Given the description of an element on the screen output the (x, y) to click on. 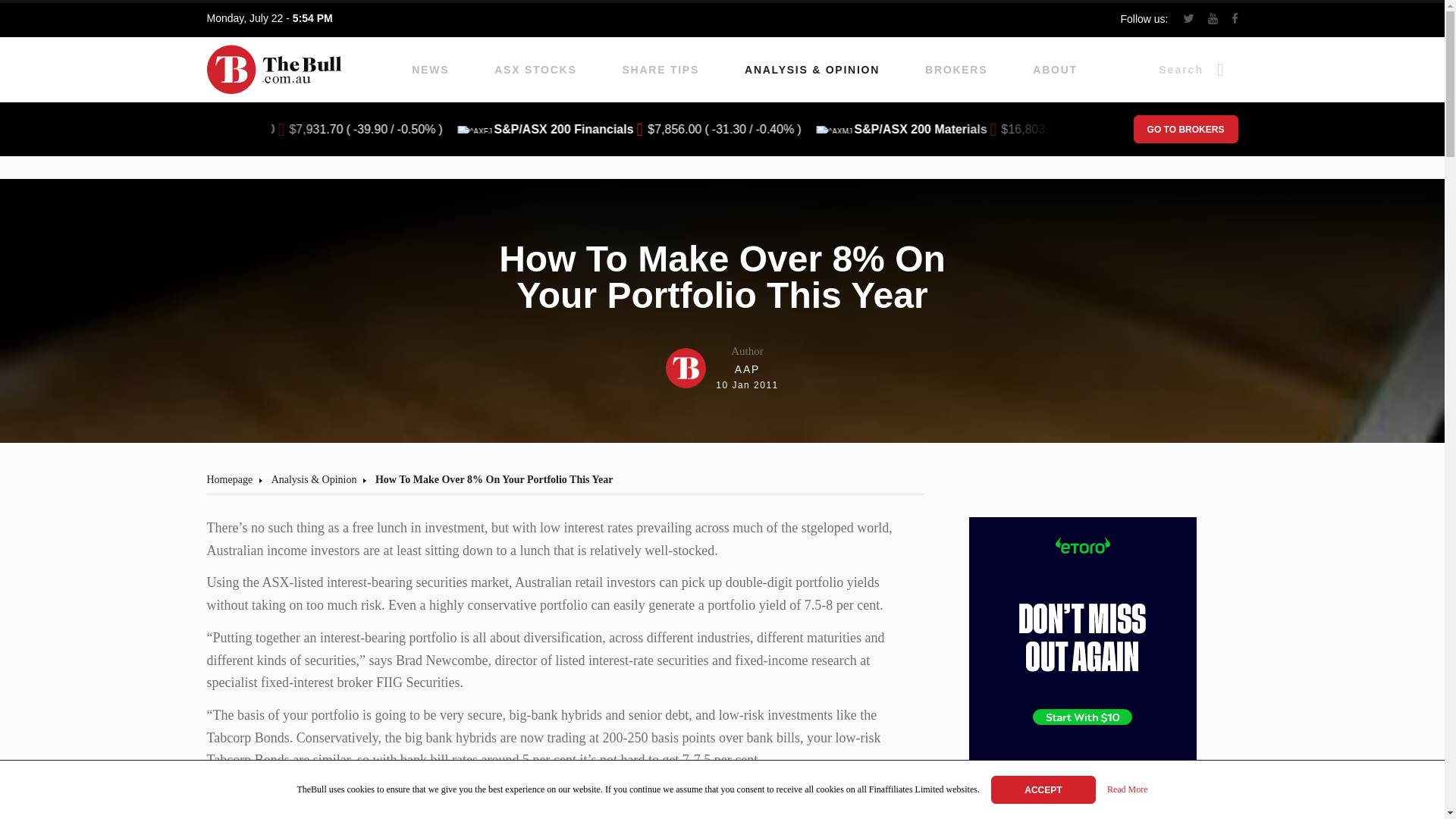
NEWS (430, 69)
SHARE TIPS (661, 69)
Homepage (228, 479)
BROKERS (955, 69)
Read More (1127, 789)
GO TO BROKERS (1184, 129)
ASX STOCKS (535, 69)
ACCEPT (1043, 789)
ABOUT (1054, 69)
